Given the description of an element on the screen output the (x, y) to click on. 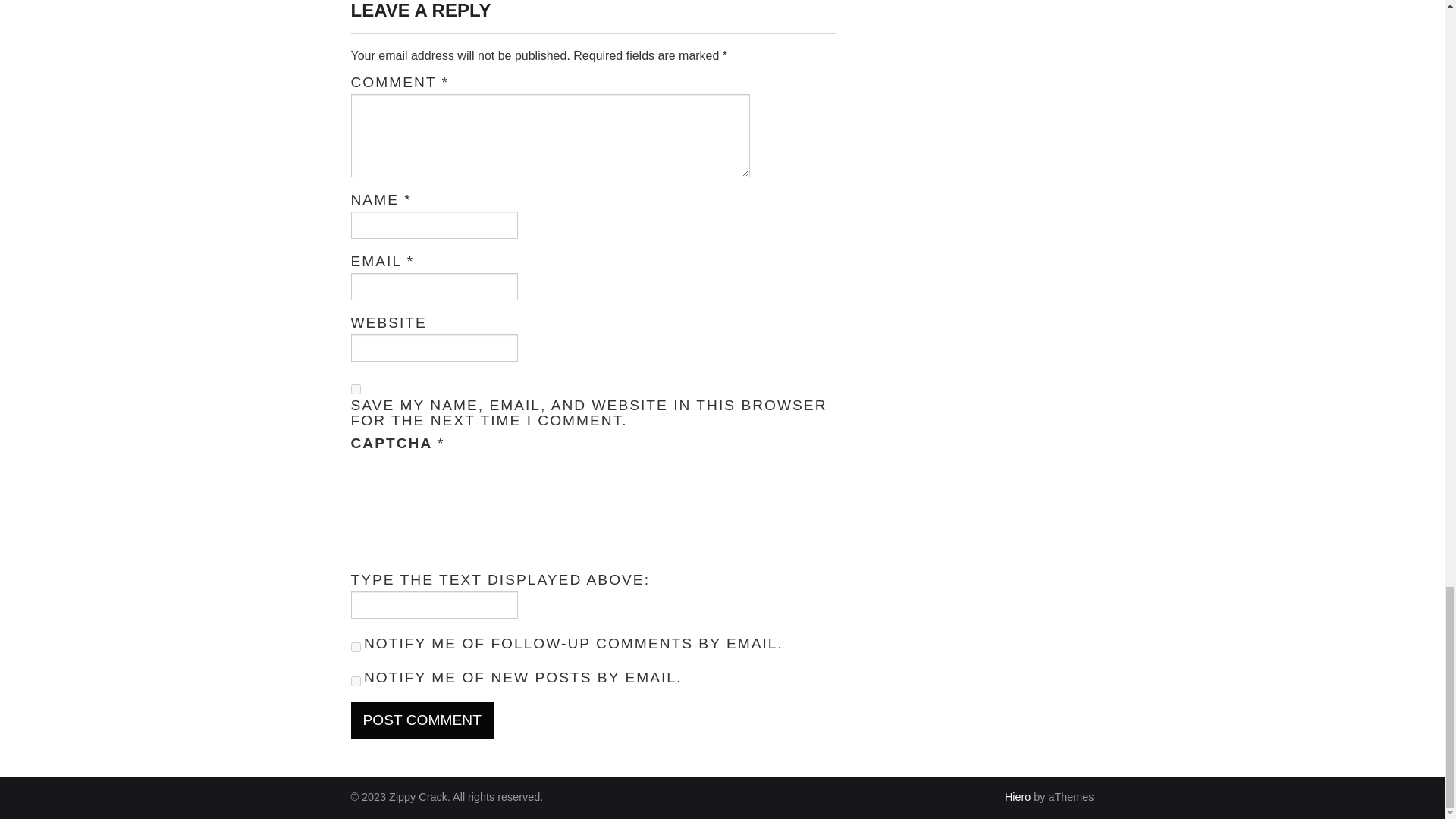
Post Comment (421, 719)
Post Comment (421, 719)
subscribe (354, 646)
yes (354, 388)
subscribe (354, 681)
